Given the description of an element on the screen output the (x, y) to click on. 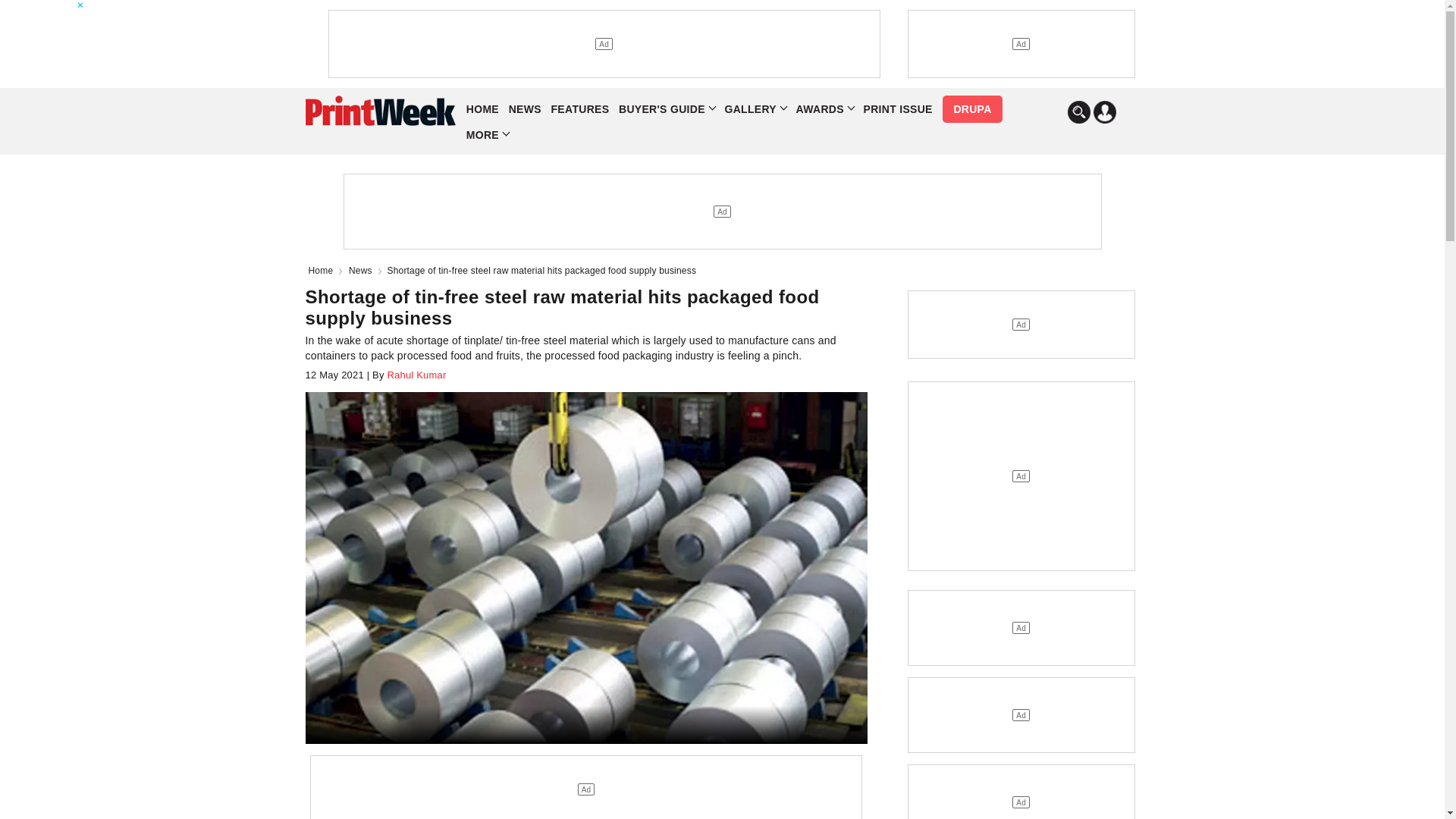
GALLERY (754, 109)
Drupa (971, 108)
PRINT ISSUE (897, 109)
Search In PrintWeek India Website (1078, 111)
Buyer's Guide (666, 109)
Home (323, 270)
FEATURES (580, 109)
AWARDS (825, 109)
PrintWeek Logo (379, 110)
News (363, 270)
DRUPA (971, 108)
NEWS (524, 109)
Print Issue (897, 109)
Rahul Kumar (415, 374)
MORE (487, 134)
